Given the description of an element on the screen output the (x, y) to click on. 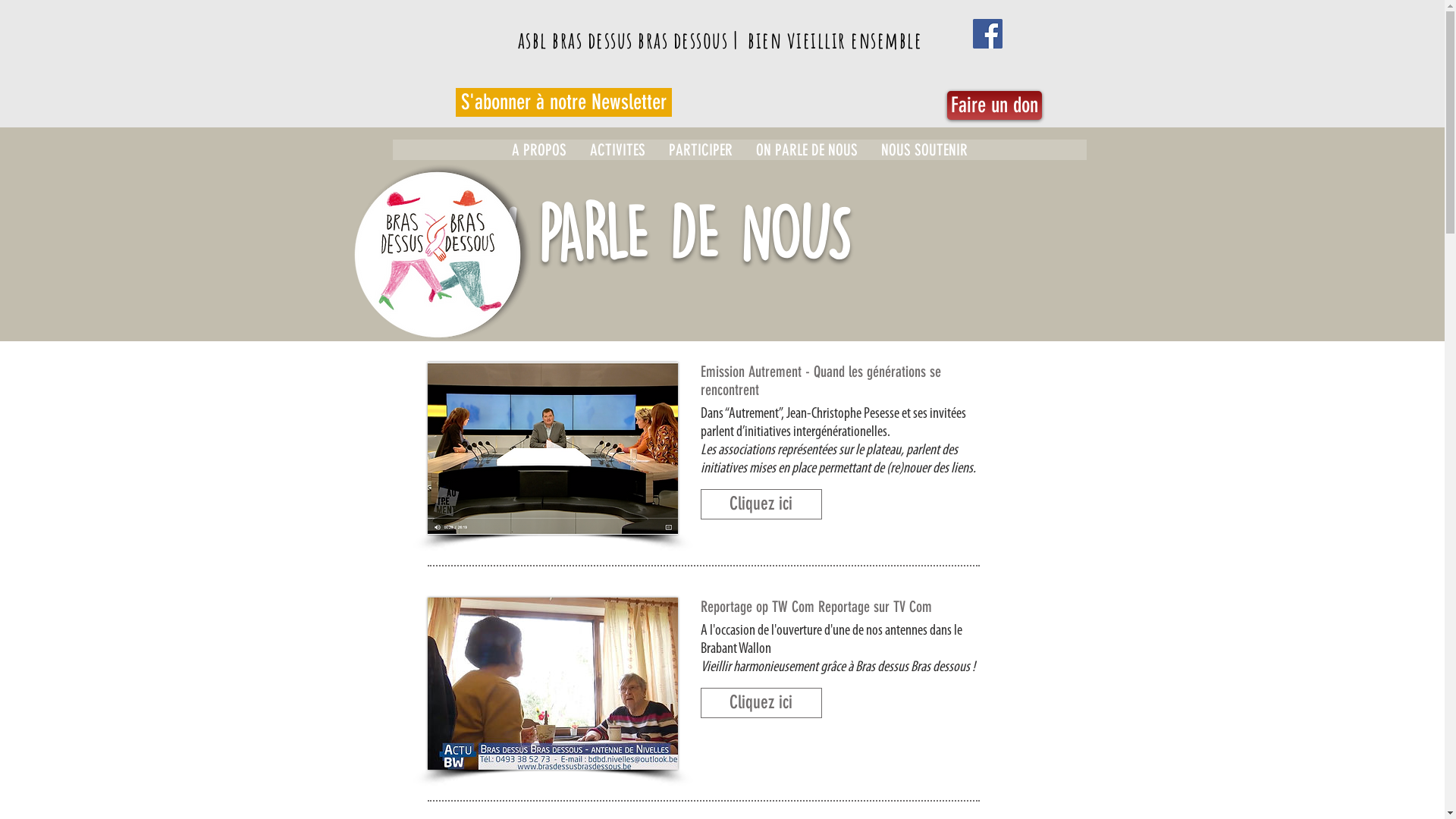
Autrement_emission_29sept_2020.png Element type: hover (552, 448)
TWIPLA (Visitor Analytics) Element type: hover (1227, 298)
ON PARLE DE NOUS Element type: text (806, 149)
A PROPOS Element type: text (538, 149)
Cliquez ici Element type: text (761, 702)
Faire un don Element type: text (993, 105)
ACTIVITES Element type: text (616, 149)
Cliquez ici Element type: text (761, 504)
TV%20Com_edited.jpg Element type: hover (552, 683)
PARTICIPER Element type: text (699, 149)
